Given the description of an element on the screen output the (x, y) to click on. 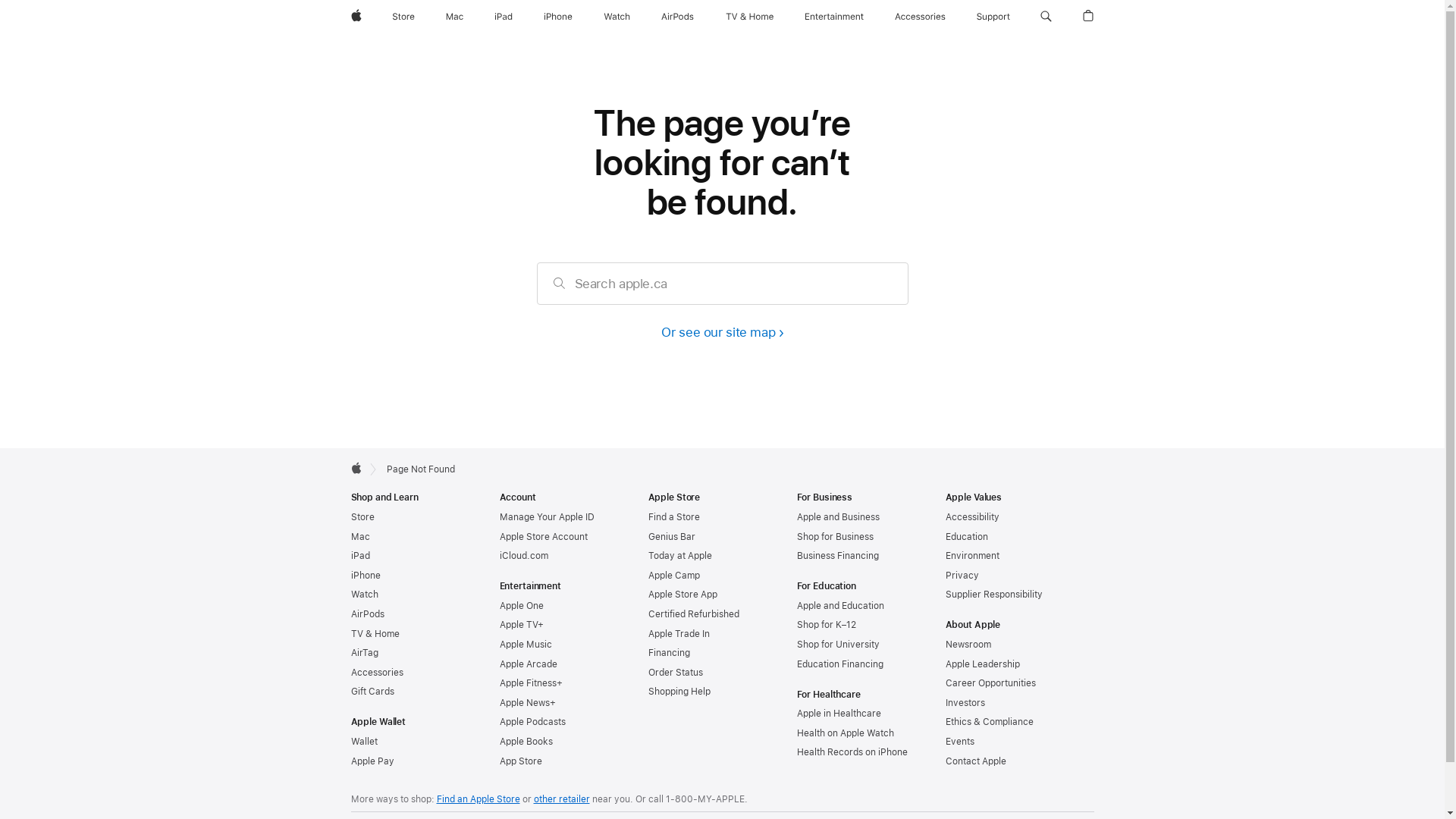
Environment Element type: text (971, 555)
Find an Apple Store Element type: text (478, 798)
Find a Store Element type: text (673, 516)
Apple Music Element type: text (524, 644)
Apple and Education Element type: text (839, 605)
Education Financing Element type: text (839, 663)
Accessories Element type: text (919, 16)
Watch Element type: text (616, 16)
iPad Element type: text (359, 555)
iCloud.com Element type: text (522, 555)
other retailer Element type: text (561, 798)
iPad Element type: text (503, 16)
Watch Element type: text (363, 594)
Investors Element type: text (964, 702)
Health on Apple Watch Element type: text (844, 733)
TV & Home Element type: text (749, 16)
Ethics & Compliance Element type: text (988, 721)
Shop for University Element type: text (837, 644)
Or see our site map Element type: text (721, 331)
Contact Apple Element type: text (974, 761)
Store Element type: text (402, 16)
Support Element type: text (993, 16)
Genius Bar Element type: text (670, 536)
TV & Home Element type: text (374, 633)
Health Records on iPhone Element type: text (851, 751)
Apple Camp Element type: text (673, 575)
AirPods Element type: text (677, 16)
Store Element type: text (361, 516)
AirTag Element type: text (363, 652)
Manage Your Apple ID Element type: text (545, 516)
iPhone Element type: text (557, 16)
Apple Pay Element type: text (371, 761)
Shop for Business Element type: text (834, 536)
Events Element type: text (958, 741)
Apple Leadership Element type: text (981, 663)
Apple Books Element type: text (525, 741)
Apple Trade In Element type: text (678, 633)
Supplier Responsibility Element type: text (992, 594)
Apple Podcasts Element type: text (531, 721)
Business Financing Element type: text (837, 555)
Certified Refurbished Element type: text (692, 613)
Financing Element type: text (668, 652)
Apple Element type: text (355, 16)
Apple TV+ Element type: text (520, 624)
Privacy Element type: text (961, 575)
Apple Store App Element type: text (681, 594)
Wallet Element type: text (363, 741)
AirPods Element type: text (366, 613)
Mac Element type: text (359, 536)
Apple in Healthcare Element type: text (838, 713)
Entertainment Element type: text (834, 16)
Apple and Business Element type: text (837, 516)
Newsroom Element type: text (967, 644)
Order Status Element type: text (674, 672)
Mac Element type: text (454, 16)
Accessibility Element type: text (971, 516)
Education Element type: text (965, 536)
Shopping Help Element type: text (678, 691)
App Store Element type: text (519, 761)
Apple Fitness+ Element type: text (529, 682)
Apple Store Account Element type: text (542, 536)
Apple News+ Element type: text (526, 702)
Apple Arcade Element type: text (527, 663)
Today at Apple Element type: text (679, 555)
iPhone Element type: text (364, 575)
Accessories Element type: text (376, 672)
Apple One Element type: text (520, 605)
Career Opportunities Element type: text (989, 682)
Gift Cards Element type: text (371, 691)
